Given the description of an element on the screen output the (x, y) to click on. 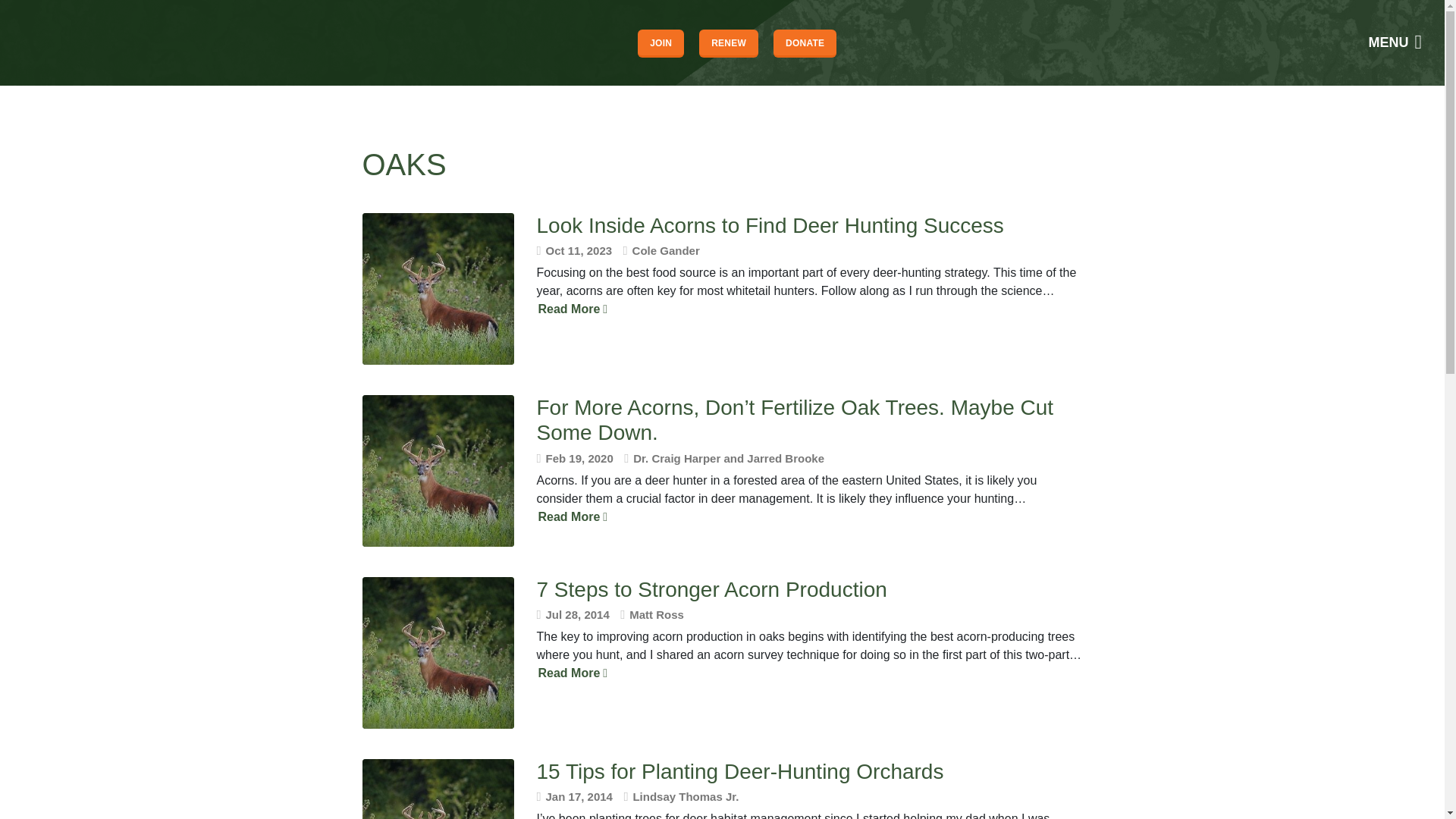
JOIN (660, 43)
DONATE (804, 43)
NDA Logo White (63, 42)
RENEW (728, 43)
